Given the description of an element on the screen output the (x, y) to click on. 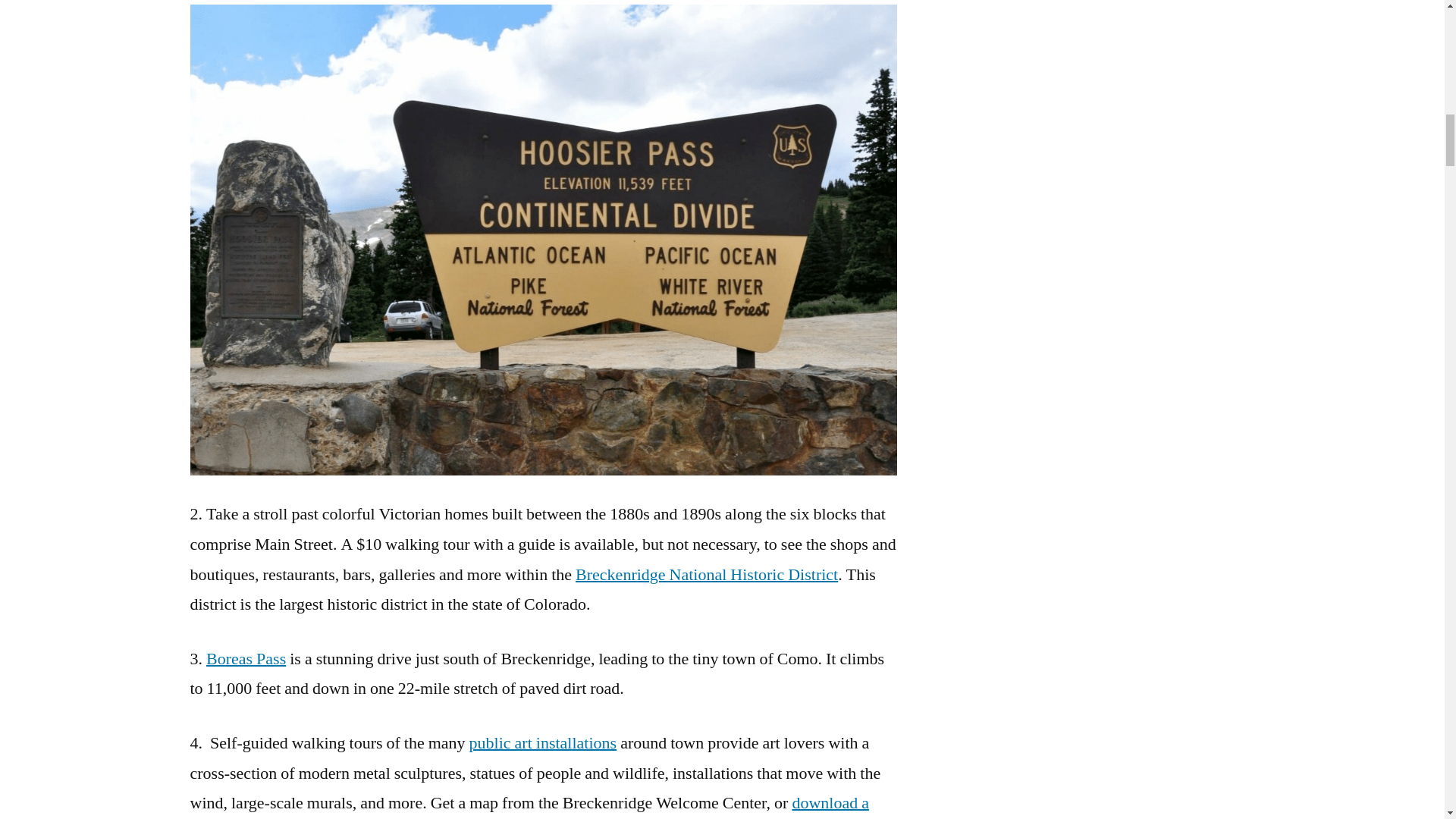
download a tour (528, 805)
public art installations (542, 742)
Boreas Pass (245, 658)
Breckenridge National Historic District (706, 574)
